Given the description of an element on the screen output the (x, y) to click on. 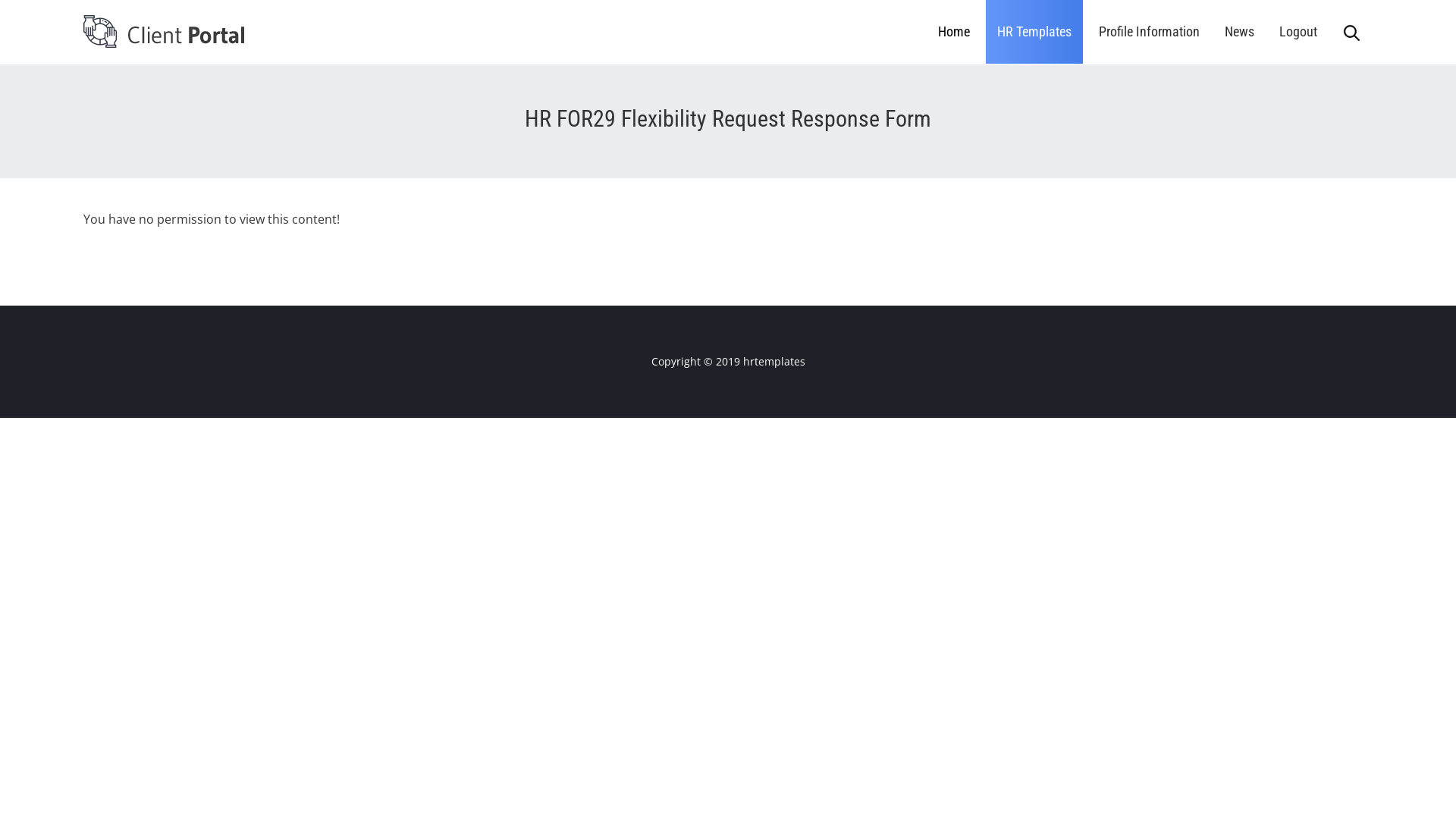
Home Element type: text (953, 31)
Profile Information Element type: text (1149, 31)
Logout Element type: text (1297, 31)
HR Templates Element type: text (1033, 31)
News Element type: text (1239, 31)
